Given the description of an element on the screen output the (x, y) to click on. 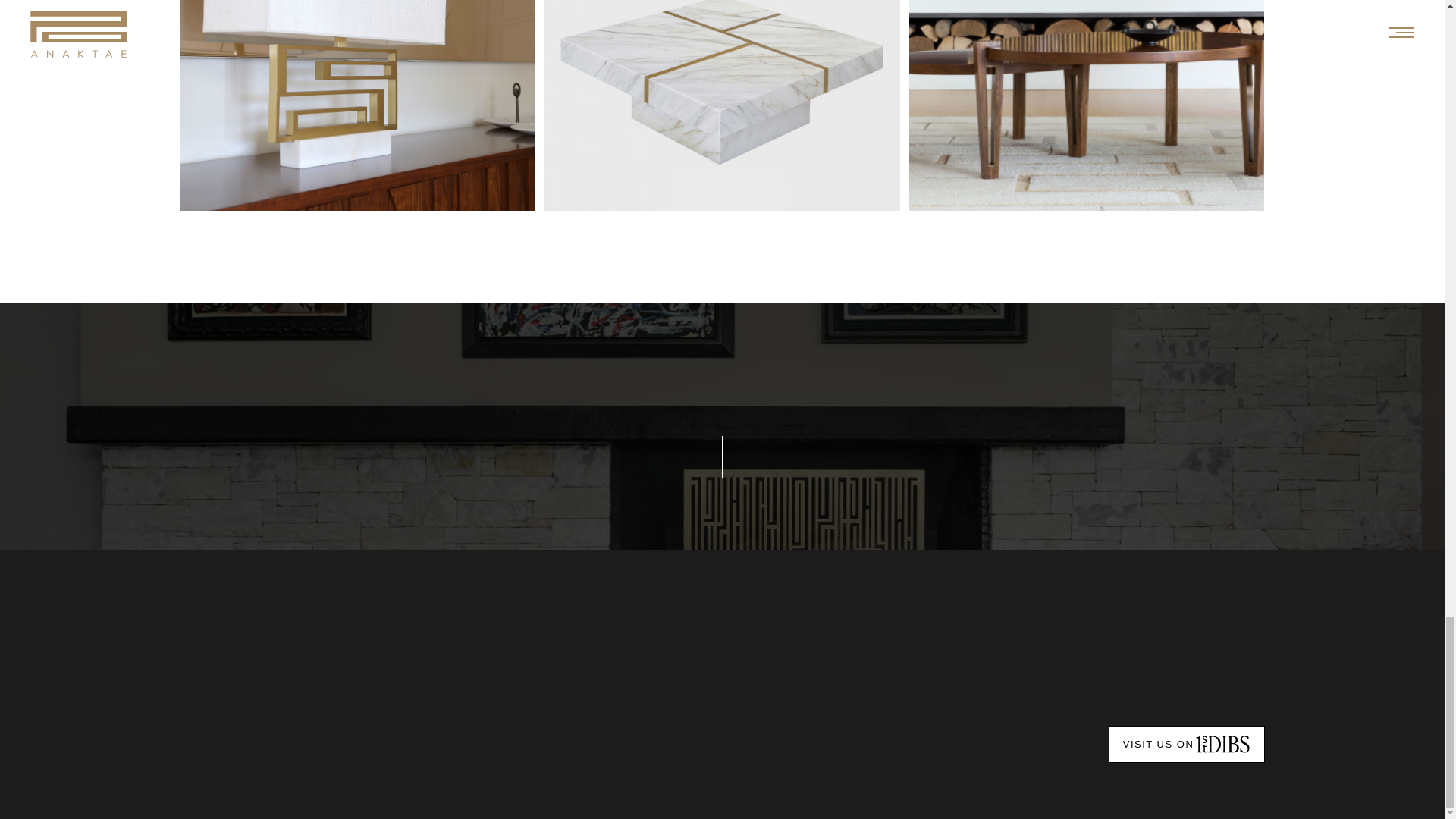
VISIT US ON (1157, 744)
